Given the description of an element on the screen output the (x, y) to click on. 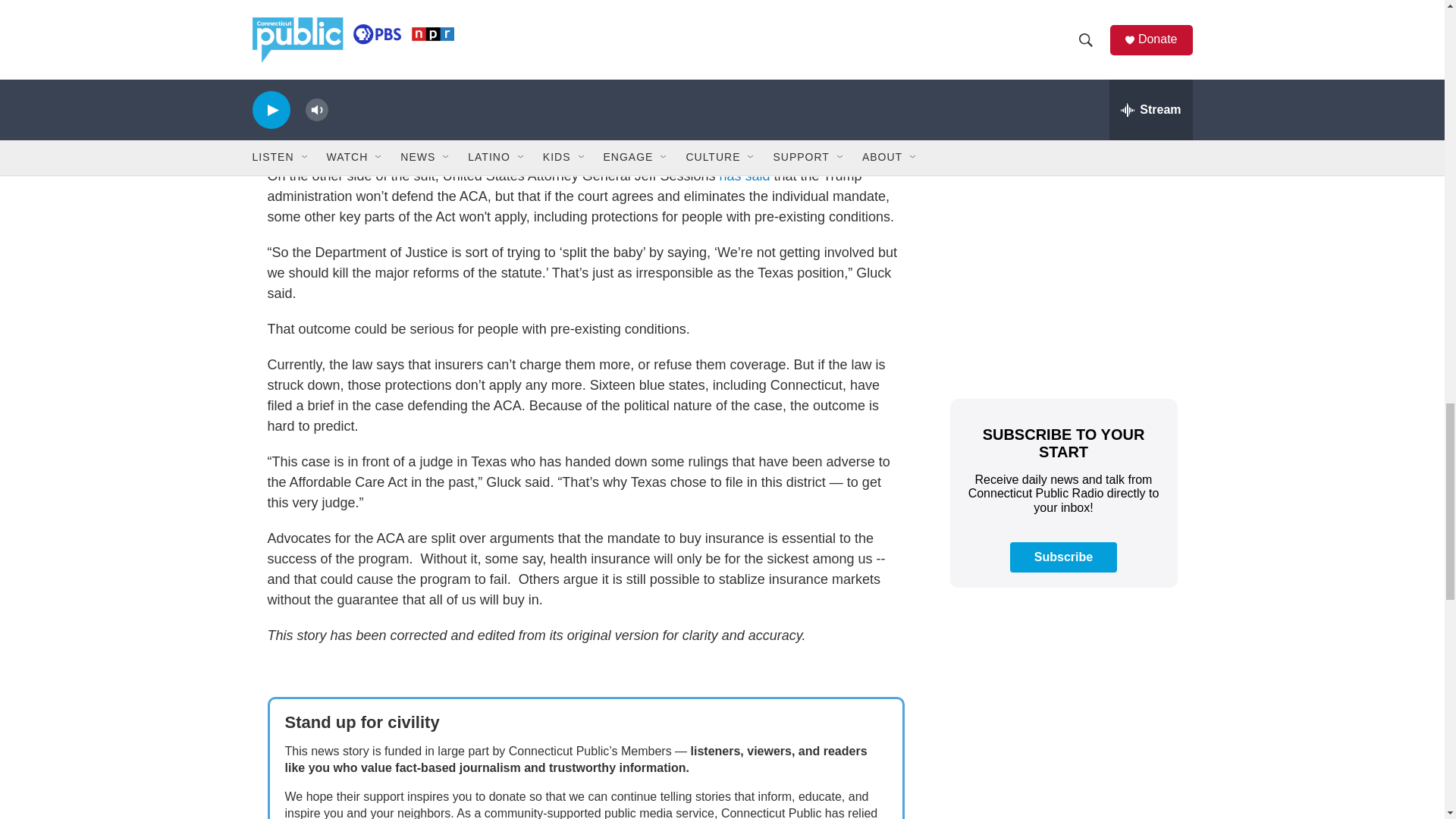
3rd party ad content (1062, 74)
3rd party ad content (1062, 273)
3rd party ad content (1062, 712)
